Given the description of an element on the screen output the (x, y) to click on. 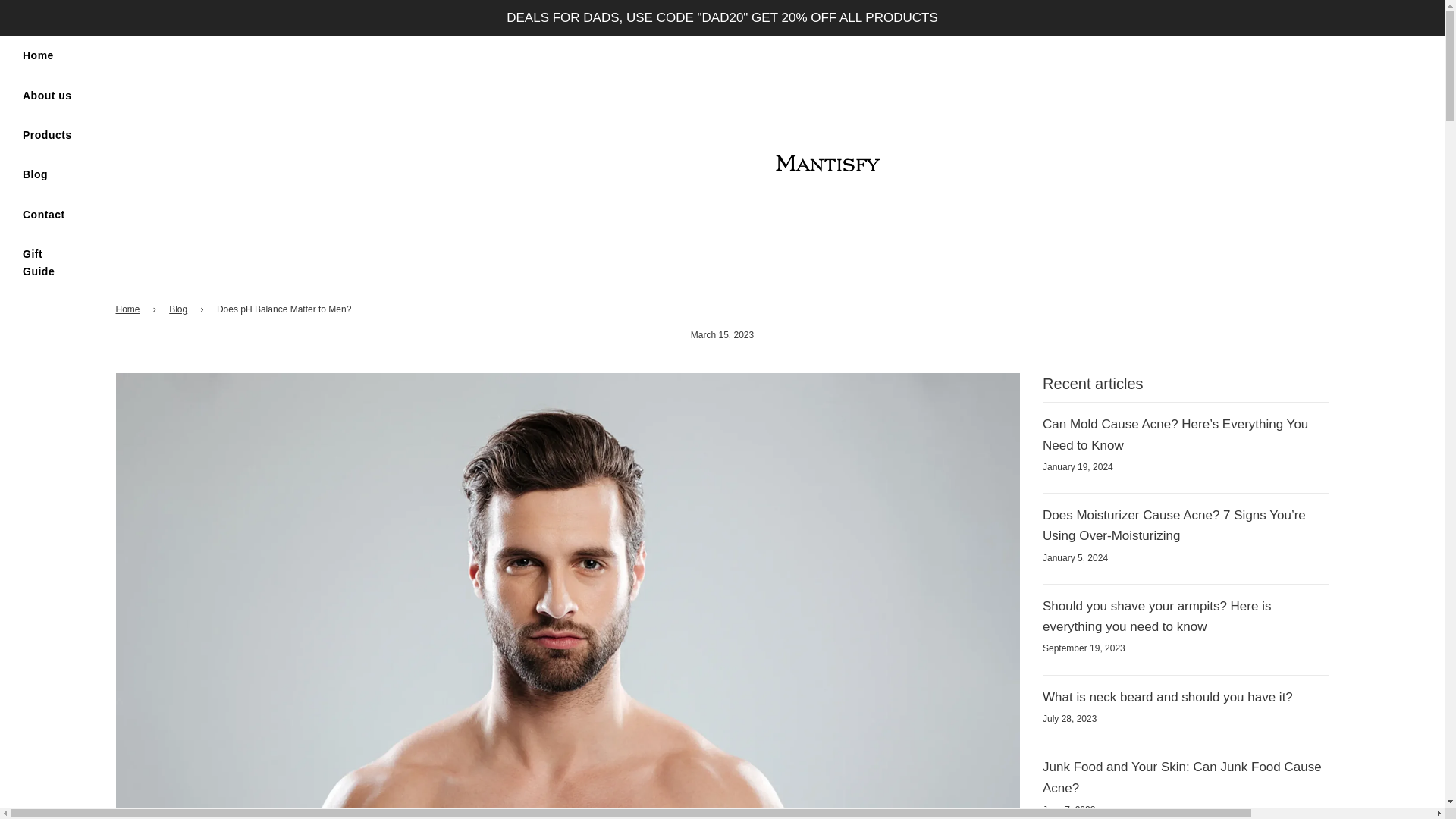
What is neck beard and should you have it? (1167, 697)
Blog (180, 309)
About us (46, 95)
Products (46, 134)
Home (38, 55)
Junk Food and Your Skin: Can Junk Food Cause Acne? (1182, 777)
Blog (35, 174)
Contact (44, 214)
